Given the description of an element on the screen output the (x, y) to click on. 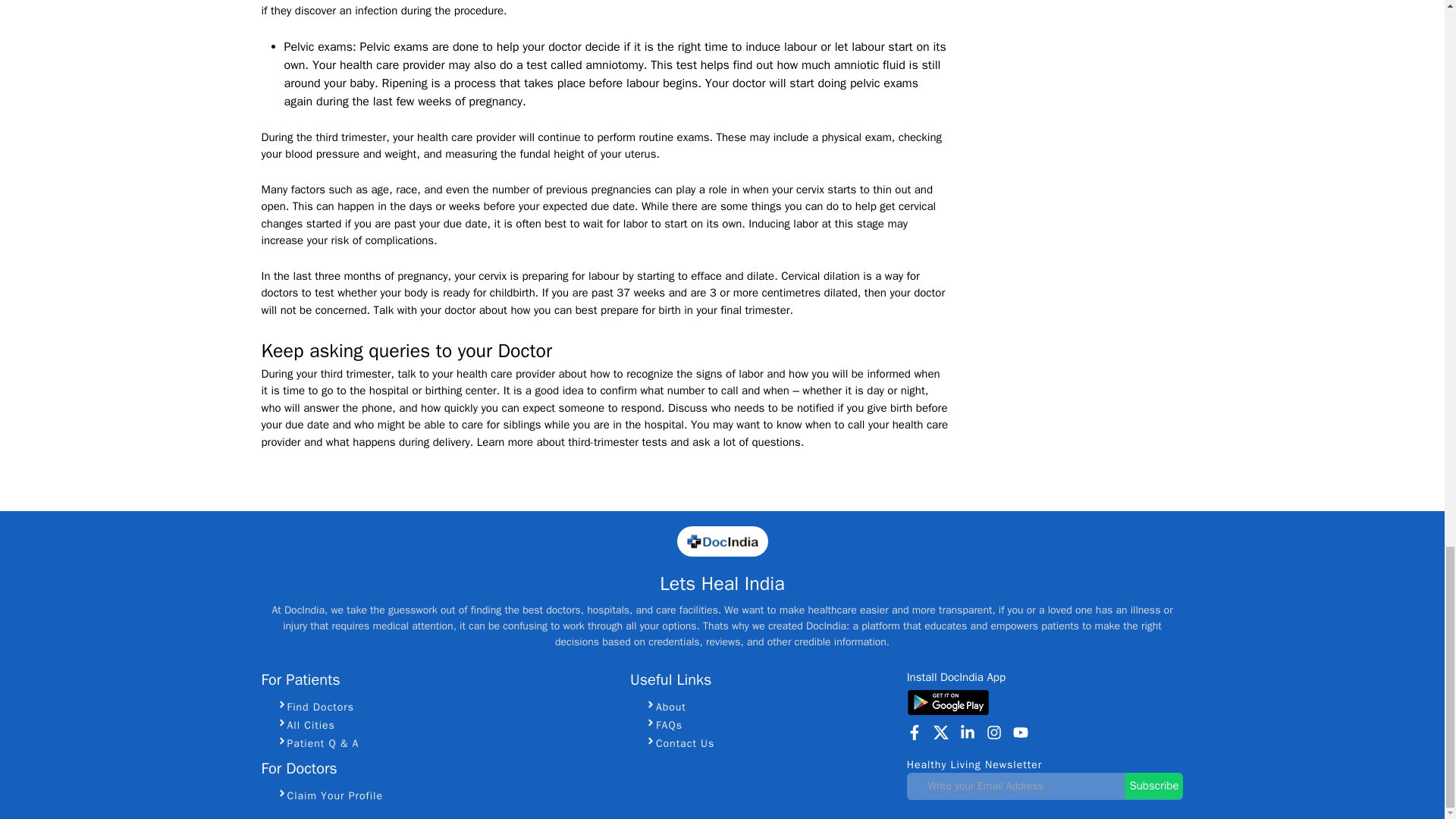
Find Doctors (444, 706)
Twitter (941, 732)
All Cities (444, 724)
Instagram (994, 732)
Linkedin (967, 732)
About (768, 706)
Youtube (1020, 732)
Subscribe (1153, 786)
Claim Your Profile (444, 795)
FAQs (768, 724)
Contact Us (768, 742)
Facebook (914, 732)
